Given the description of an element on the screen output the (x, y) to click on. 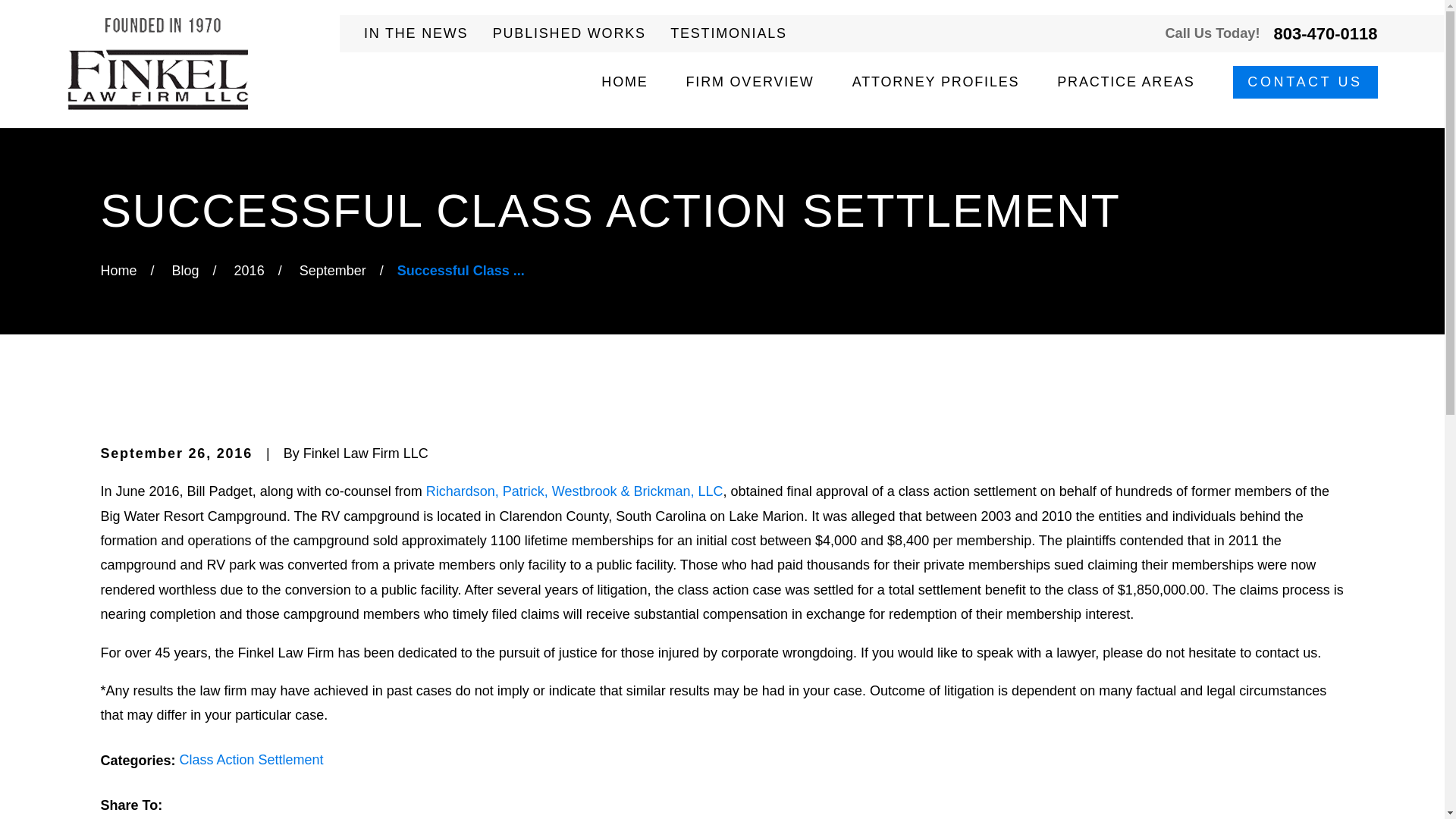
803-470-0118 (1325, 33)
TESTIMONIALS (728, 32)
IN THE NEWS (415, 32)
Finkel Law Firm LLC (156, 63)
FIRM OVERVIEW (749, 81)
Go Home (118, 270)
HOME (624, 81)
Home (156, 63)
PRACTICE AREAS (1125, 81)
ATTORNEY PROFILES (935, 81)
